Given the description of an element on the screen output the (x, y) to click on. 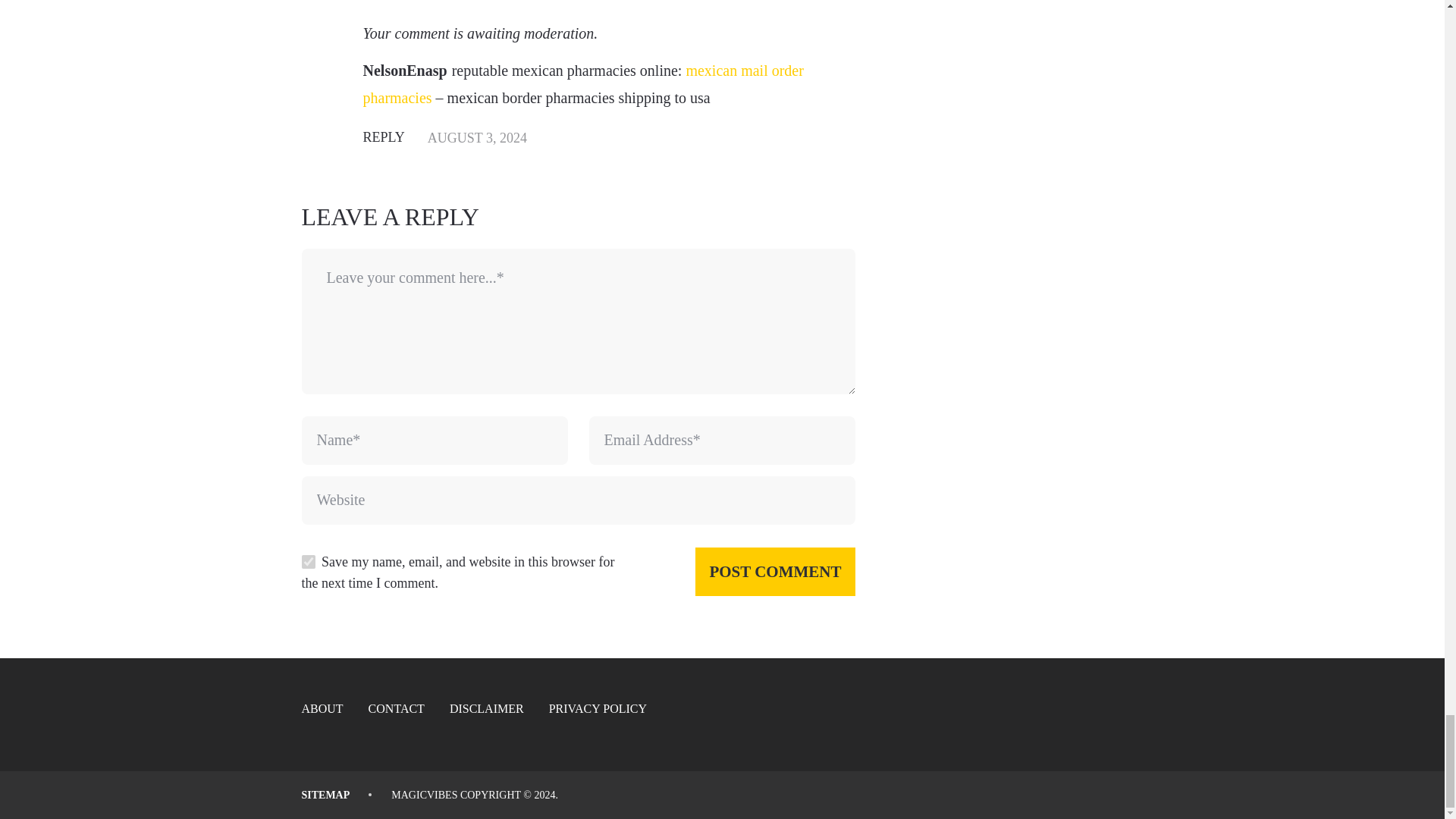
REPLY (383, 136)
mexican mail order pharmacies (582, 84)
yes (308, 561)
Post Comment (774, 571)
Post Comment (774, 571)
